Given the description of an element on the screen output the (x, y) to click on. 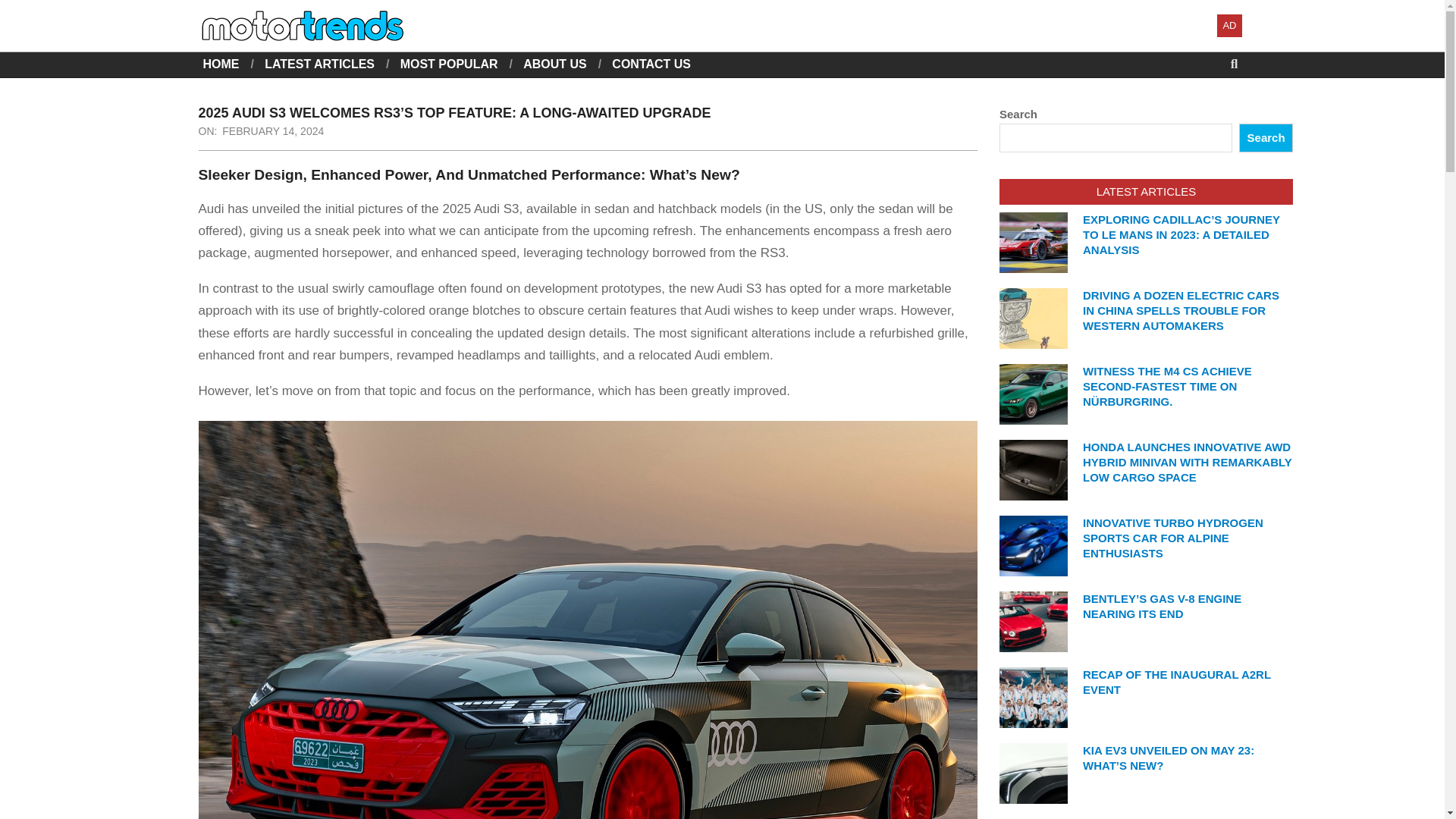
CONTACT US (650, 63)
INNOVATIVE TURBO HYDROGEN SPORTS CAR FOR ALPINE ENTHUSIASTS (1173, 537)
Search (1265, 137)
HOME (221, 63)
ABOUT US (554, 63)
Search (24, 9)
MOST POPULAR (448, 63)
RECAP OF THE INAUGURAL A2RL EVENT (1177, 682)
LATEST ARTICLES (319, 63)
